Given the description of an element on the screen output the (x, y) to click on. 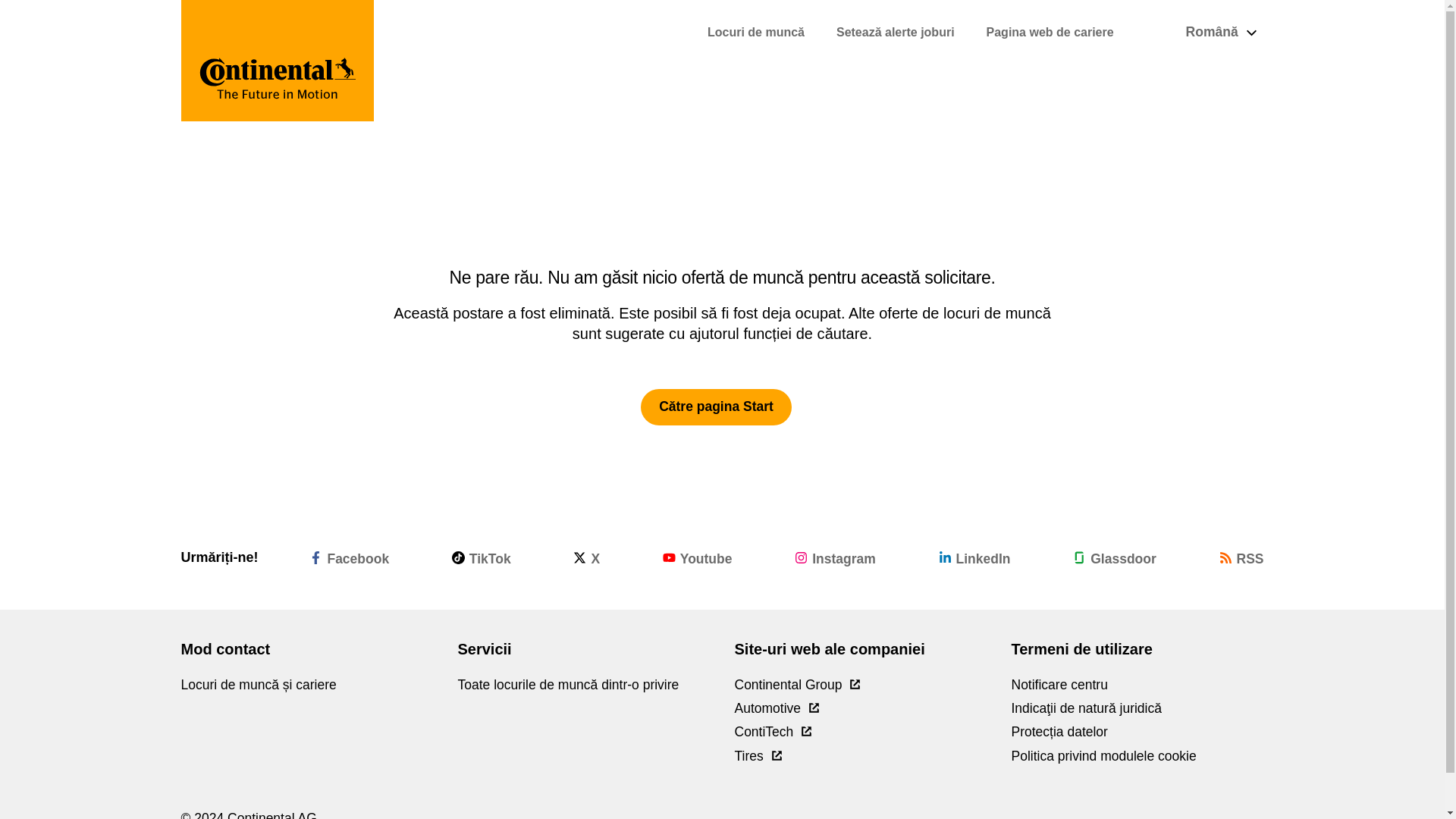
Pagina web de cariere (1049, 32)
Glassdoor (1114, 557)
TikTok (481, 557)
X (586, 557)
RSS (1241, 557)
Continental AG (277, 60)
Facebook (348, 557)
Instagram (835, 557)
TikTok (481, 557)
Facebook (348, 557)
Youtube (697, 557)
Pagina web de cariere (1049, 32)
LinkedIn (974, 557)
